Given the description of an element on the screen output the (x, y) to click on. 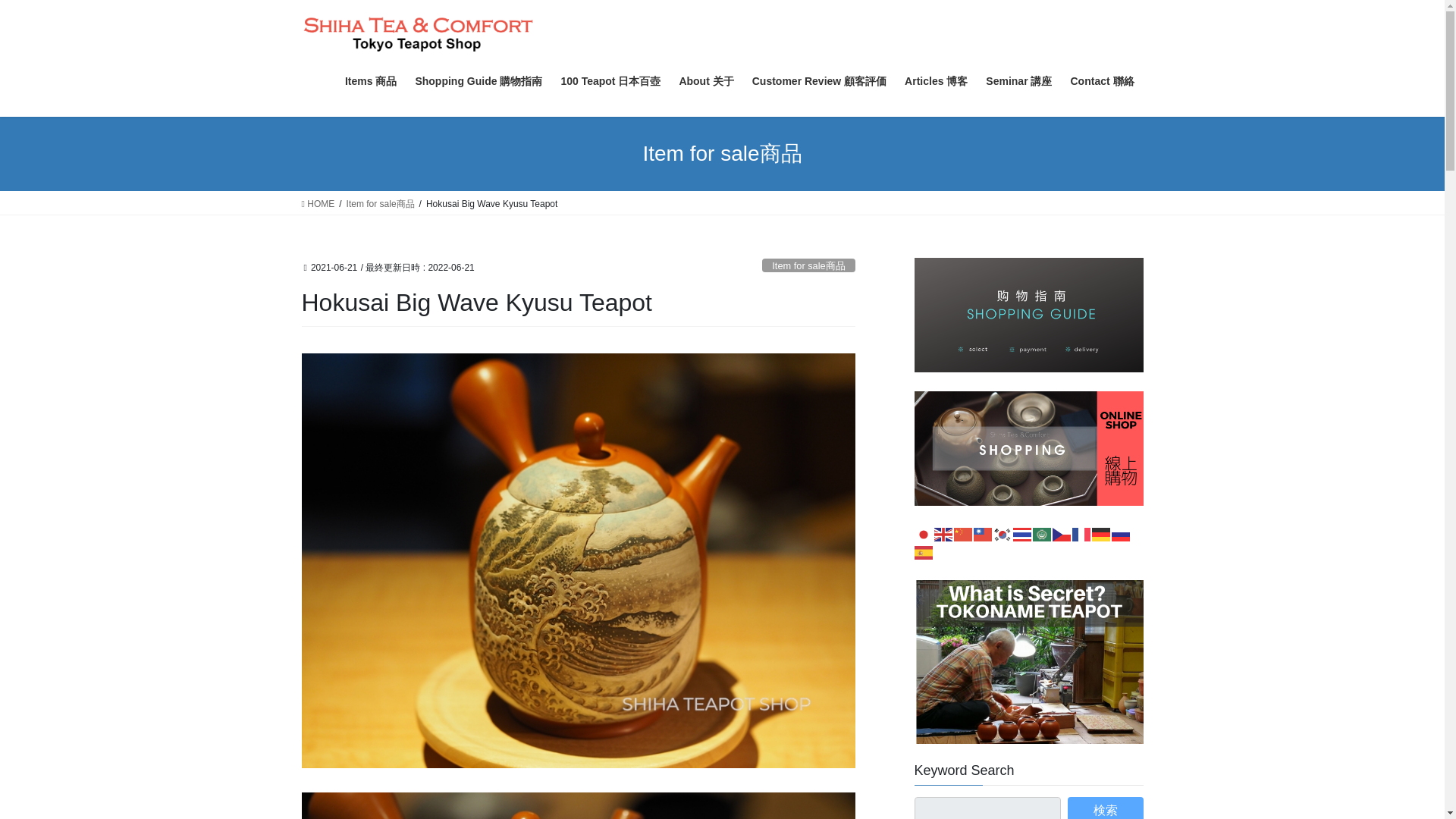
Japanese (924, 533)
Russian (1121, 533)
Arabic (1042, 533)
German (1102, 533)
French (1081, 533)
Thai (1022, 533)
HOME (317, 203)
Czech (1061, 533)
English (943, 533)
Spanish (924, 551)
Korean (1002, 533)
